Given the description of an element on the screen output the (x, y) to click on. 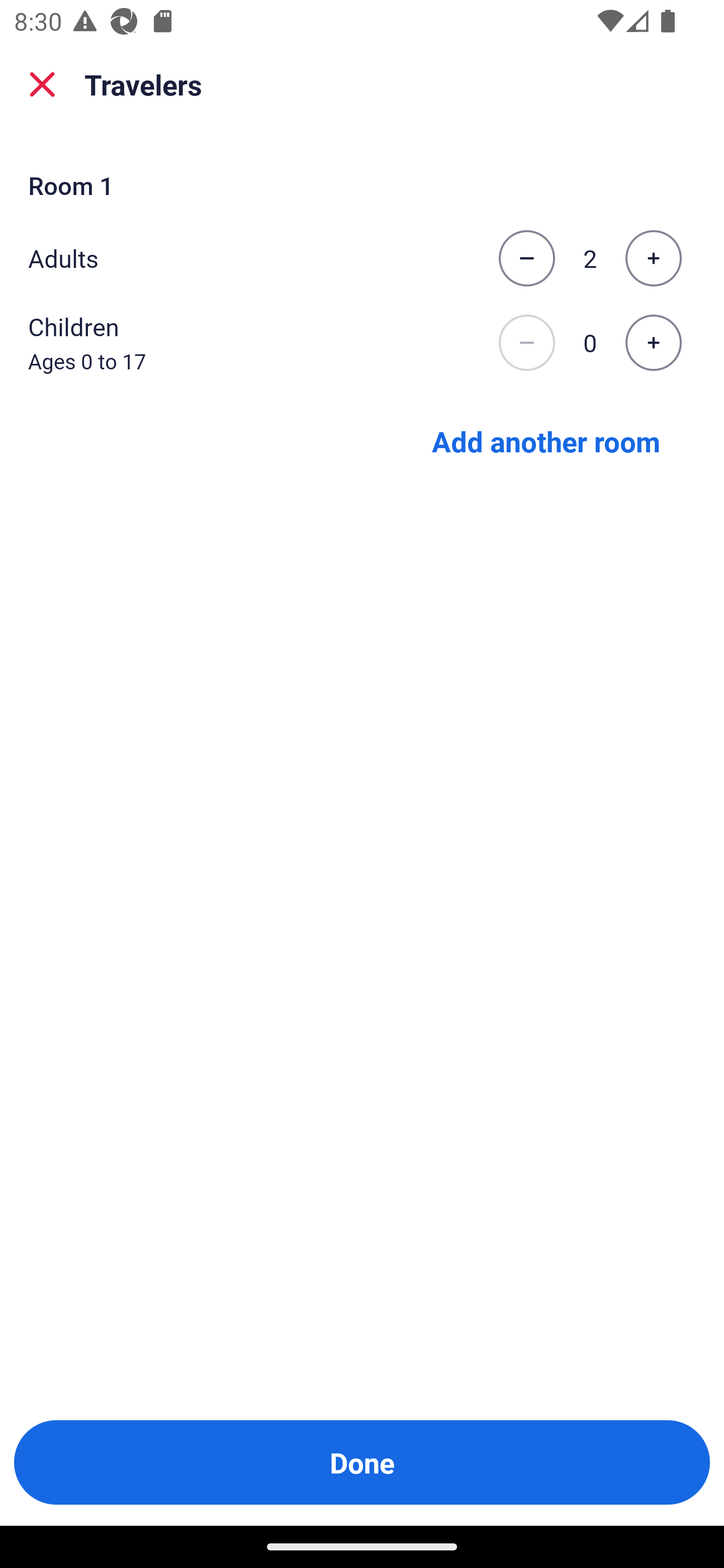
close (42, 84)
Decrease the number of adults (526, 258)
Increase the number of adults (653, 258)
Decrease the number of children (526, 343)
Increase the number of children (653, 343)
Add another room (545, 440)
Done (361, 1462)
